Given the description of an element on the screen output the (x, y) to click on. 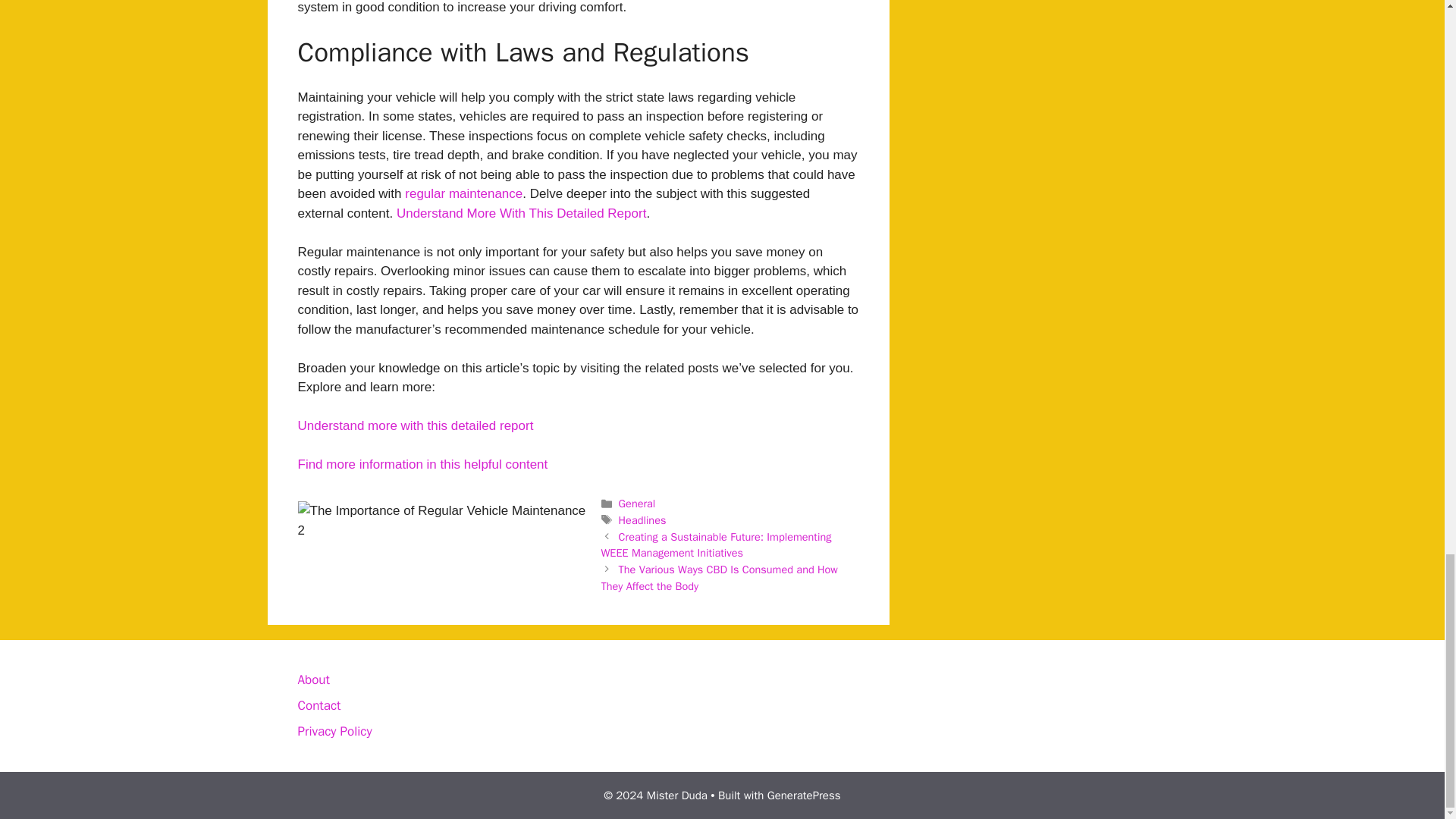
General (637, 503)
Find more information in this helpful content (422, 464)
About (313, 679)
Privacy Policy (334, 731)
regular maintenance (463, 193)
Understand More With This Detailed Report (521, 213)
GeneratePress (804, 795)
Headlines (642, 520)
